Given the description of an element on the screen output the (x, y) to click on. 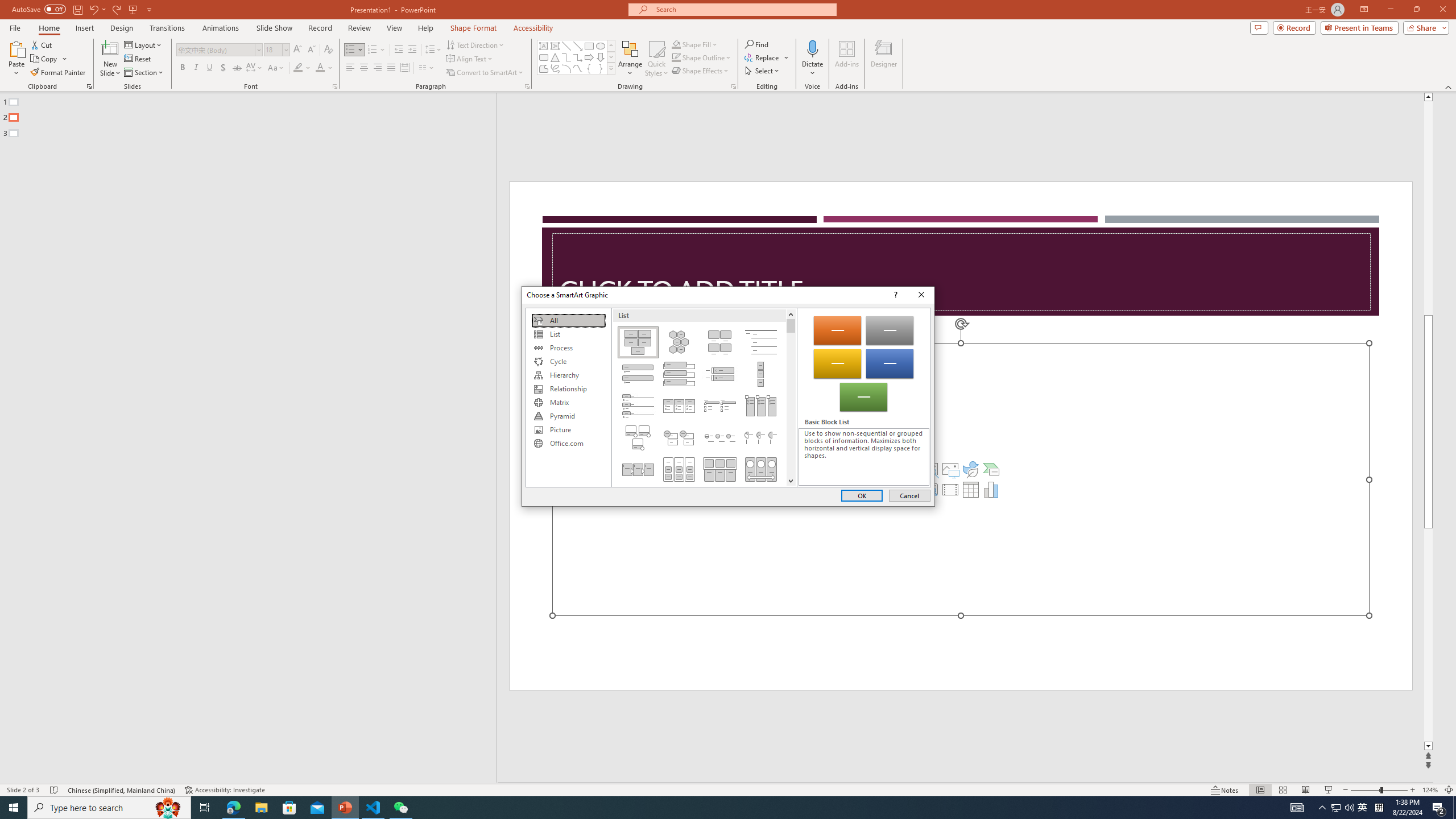
Insert Video (949, 489)
Class: NetUIScrollBar (790, 397)
Insert a SmartArt Graphic (991, 469)
Insert Chart (991, 489)
